Given the description of an element on the screen output the (x, y) to click on. 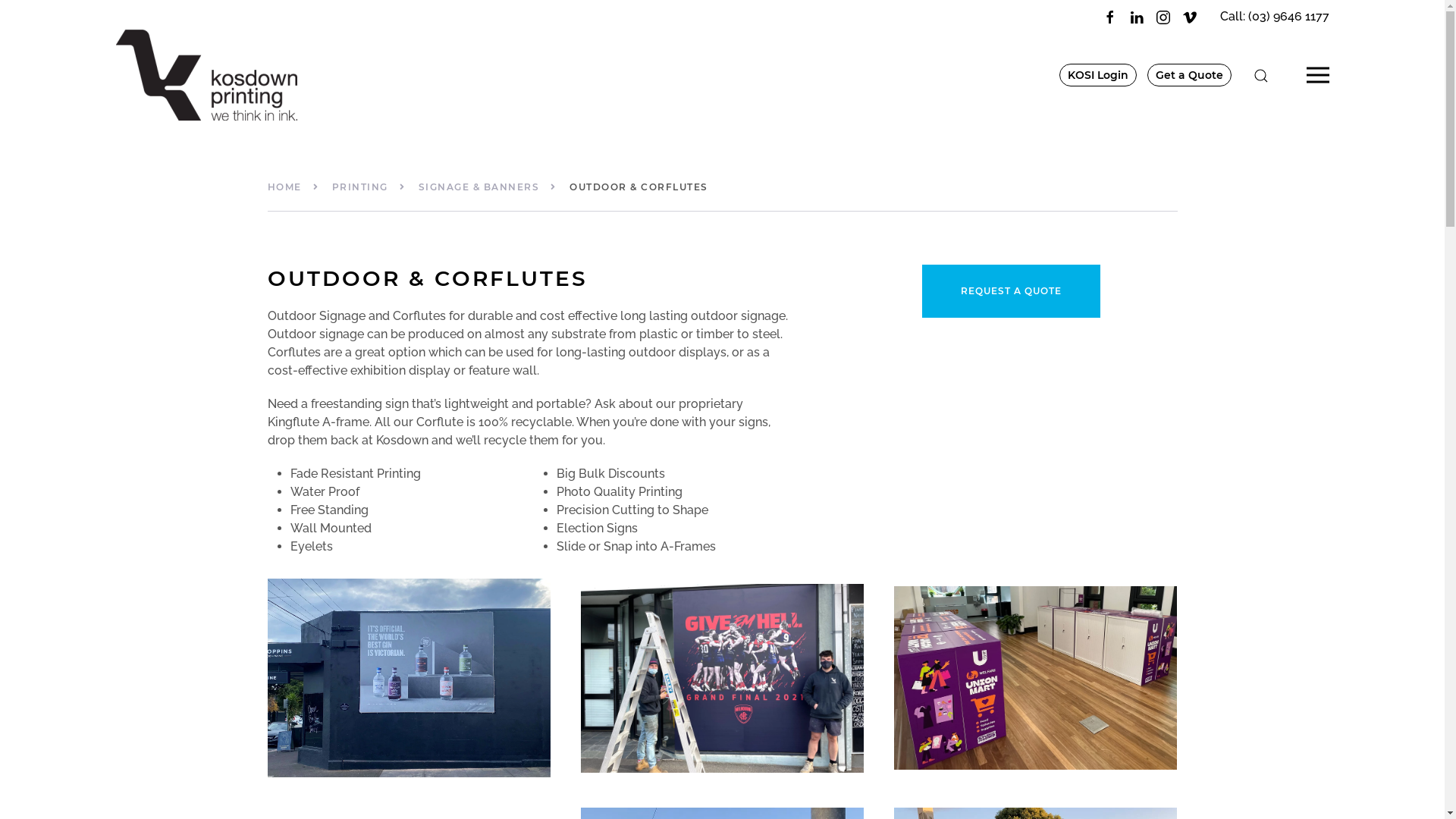
KOSI Login Element type: text (1096, 74)
Get a Quote Element type: text (1188, 74)
PRINTING Element type: text (360, 186)
HOME Element type: text (283, 186)
SIGNAGE & BANNERS Element type: text (478, 186)
REQUEST A QUOTE Element type: text (1011, 290)
